Given the description of an element on the screen output the (x, y) to click on. 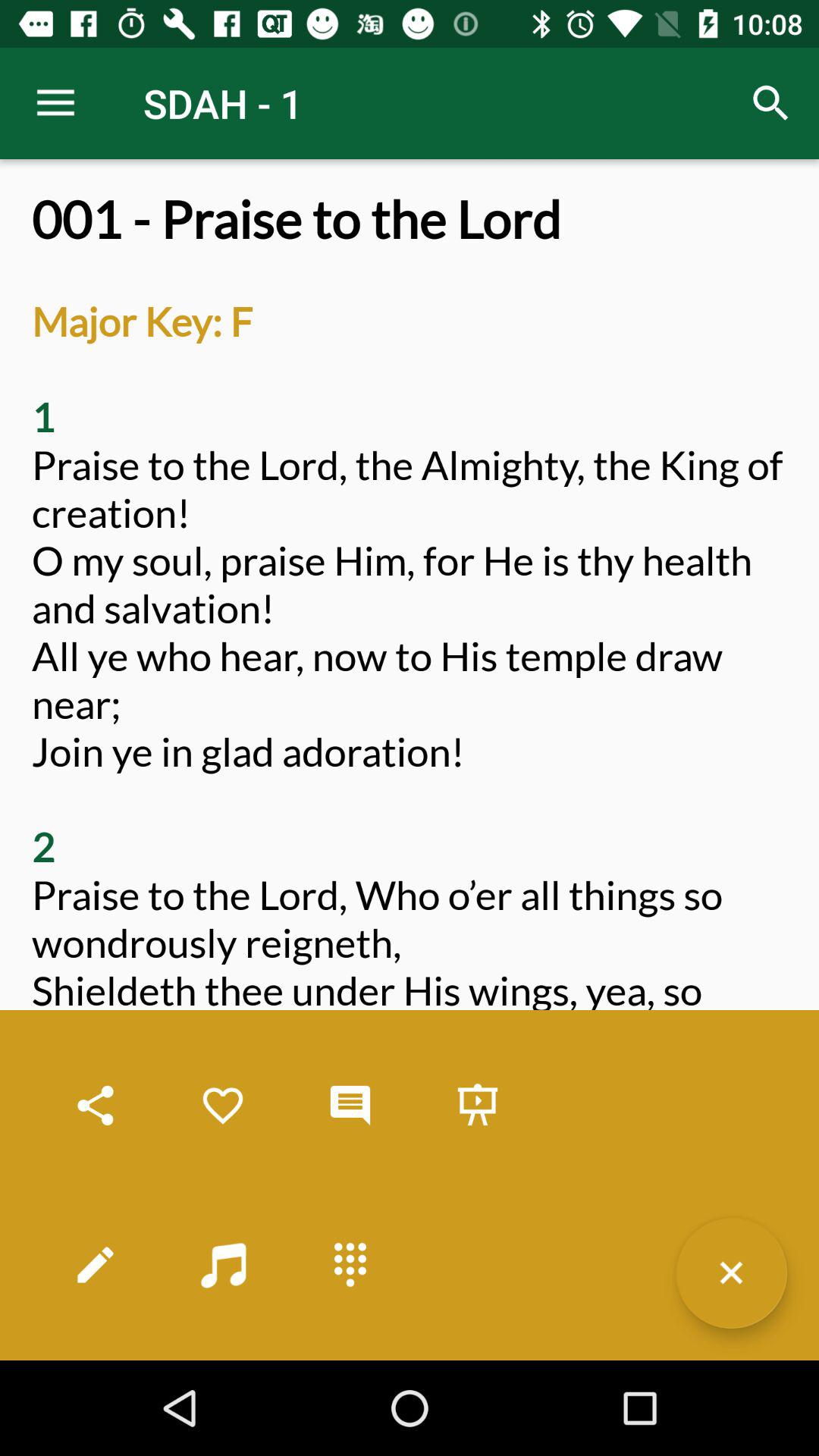
turn on icon to the left of sdah - 1 item (55, 103)
